Given the description of an element on the screen output the (x, y) to click on. 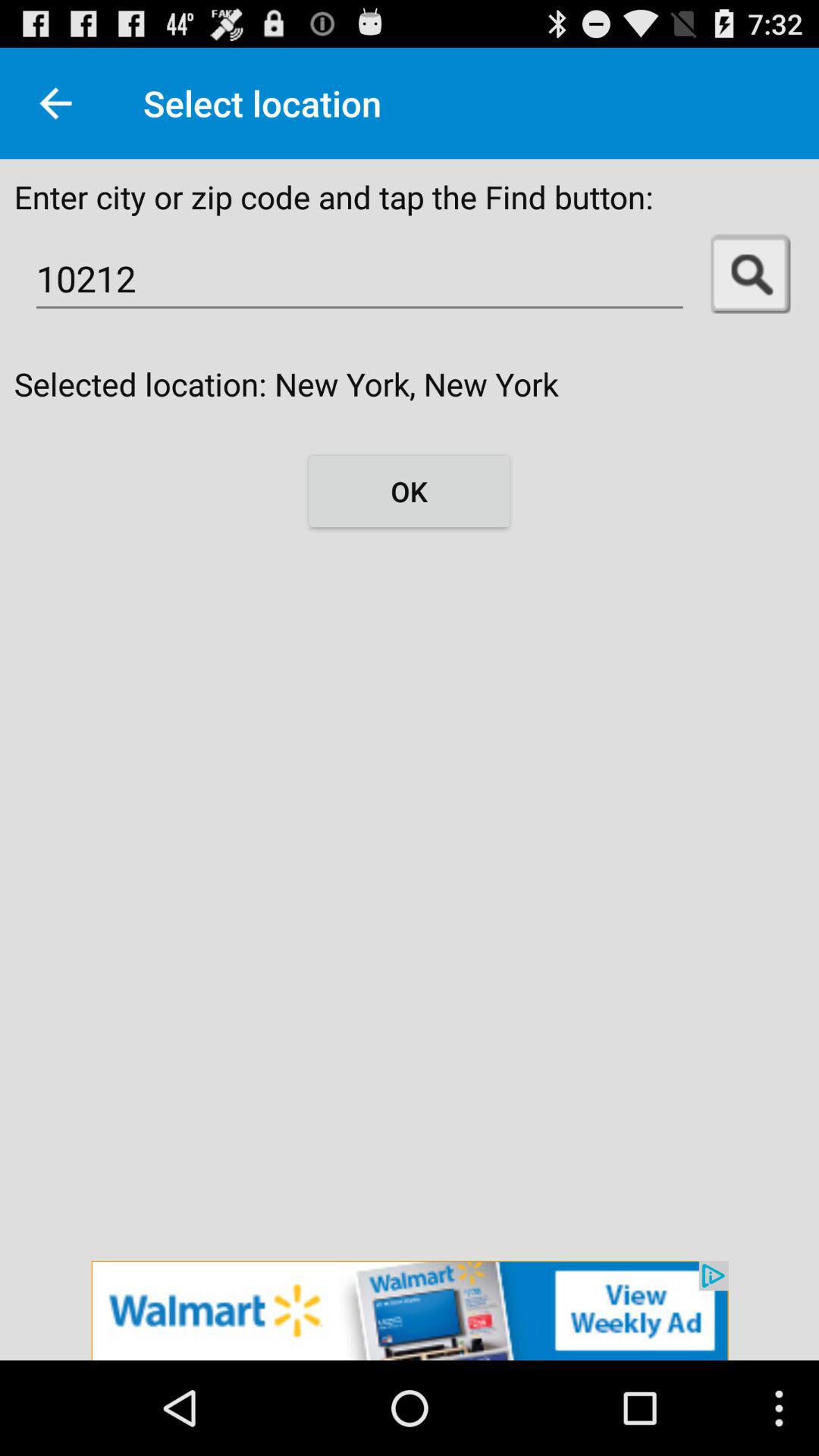
searce (750, 273)
